Given the description of an element on the screen output the (x, y) to click on. 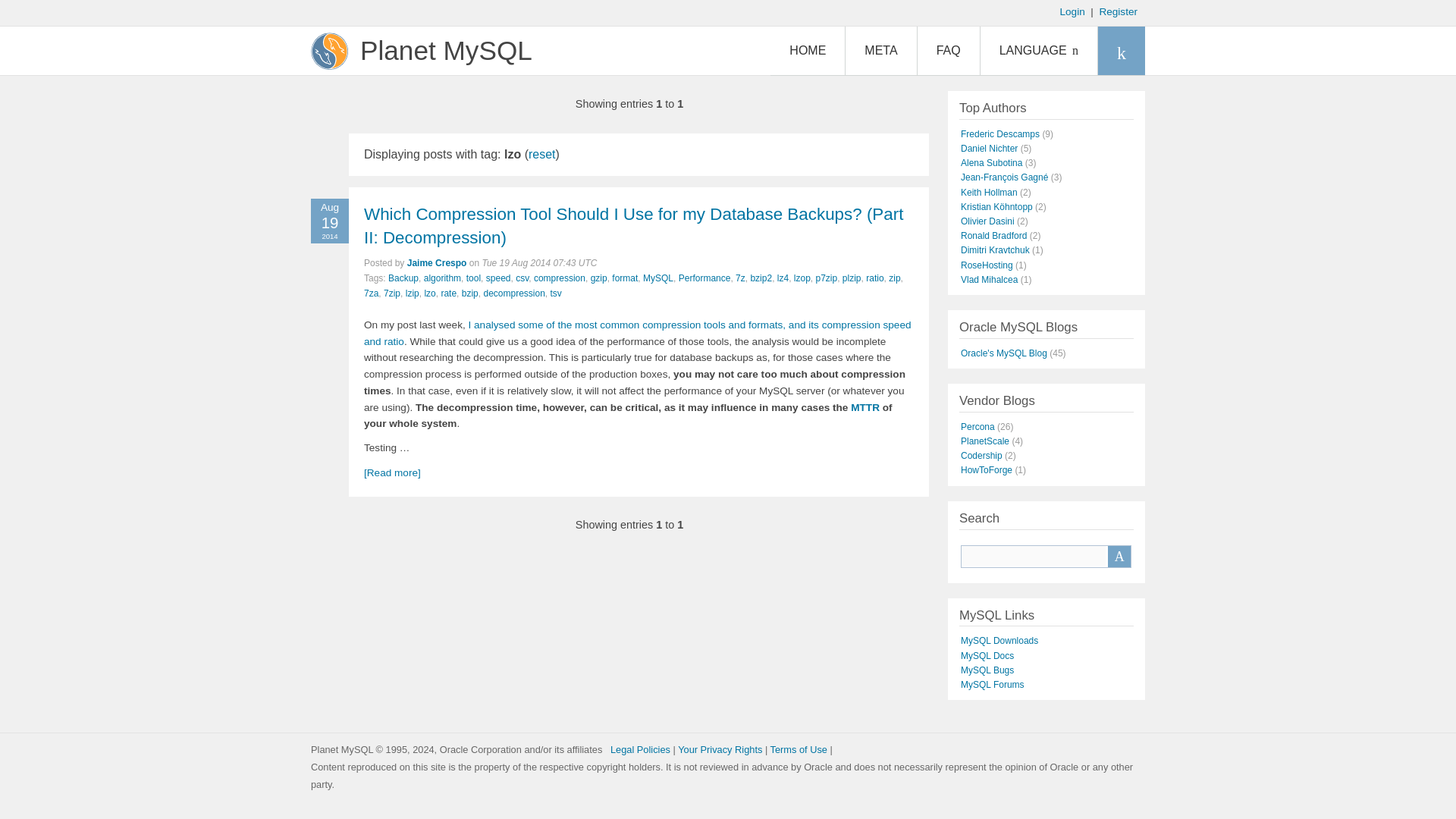
7za (371, 293)
plzip (852, 277)
format (624, 277)
p7zip (826, 277)
lzop (801, 277)
META (880, 50)
Search (1119, 556)
Performance (704, 277)
gzip (599, 277)
Backup (403, 277)
